Given the description of an element on the screen output the (x, y) to click on. 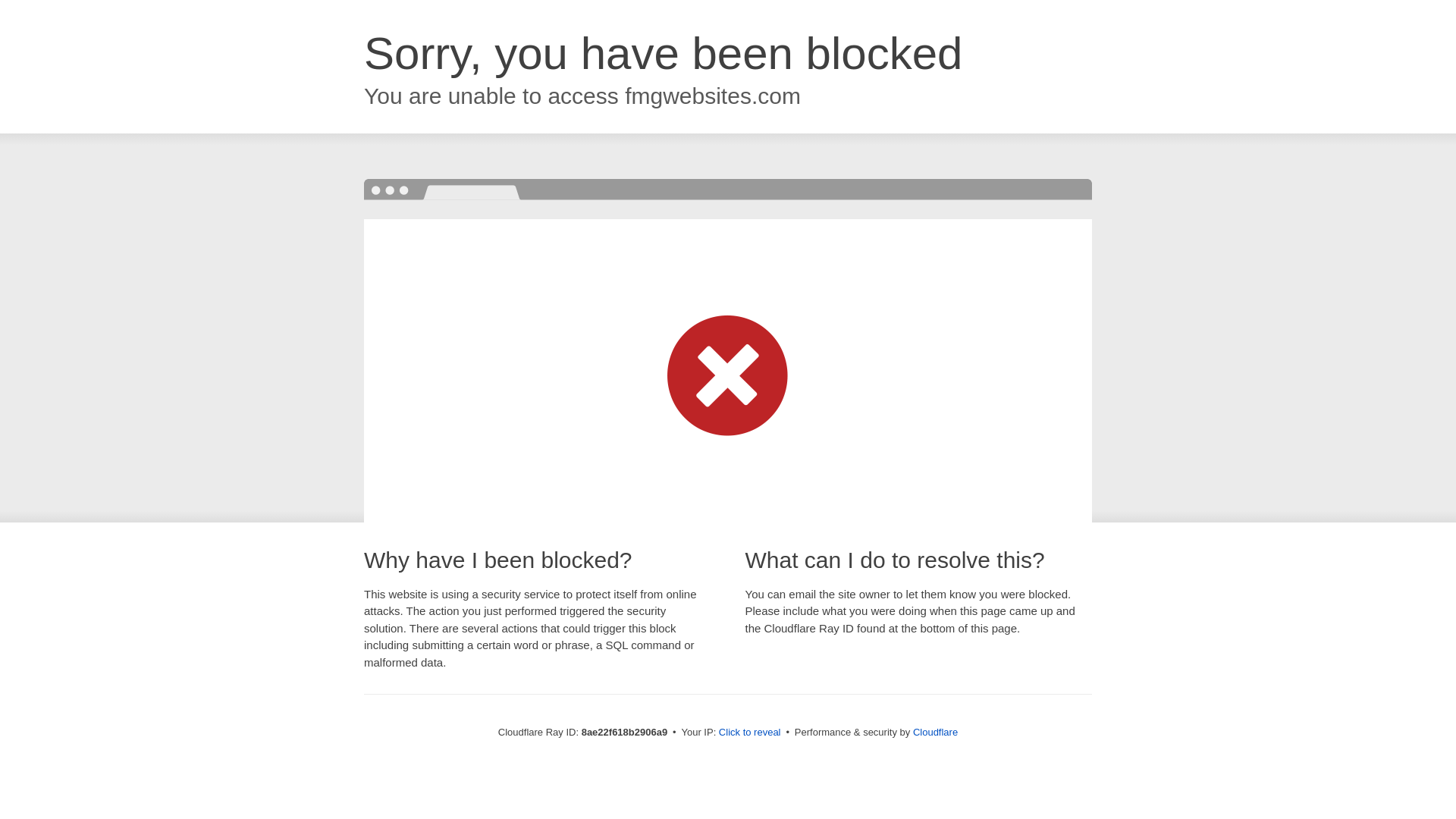
Cloudflare (935, 731)
Click to reveal (749, 732)
